Given the description of an element on the screen output the (x, y) to click on. 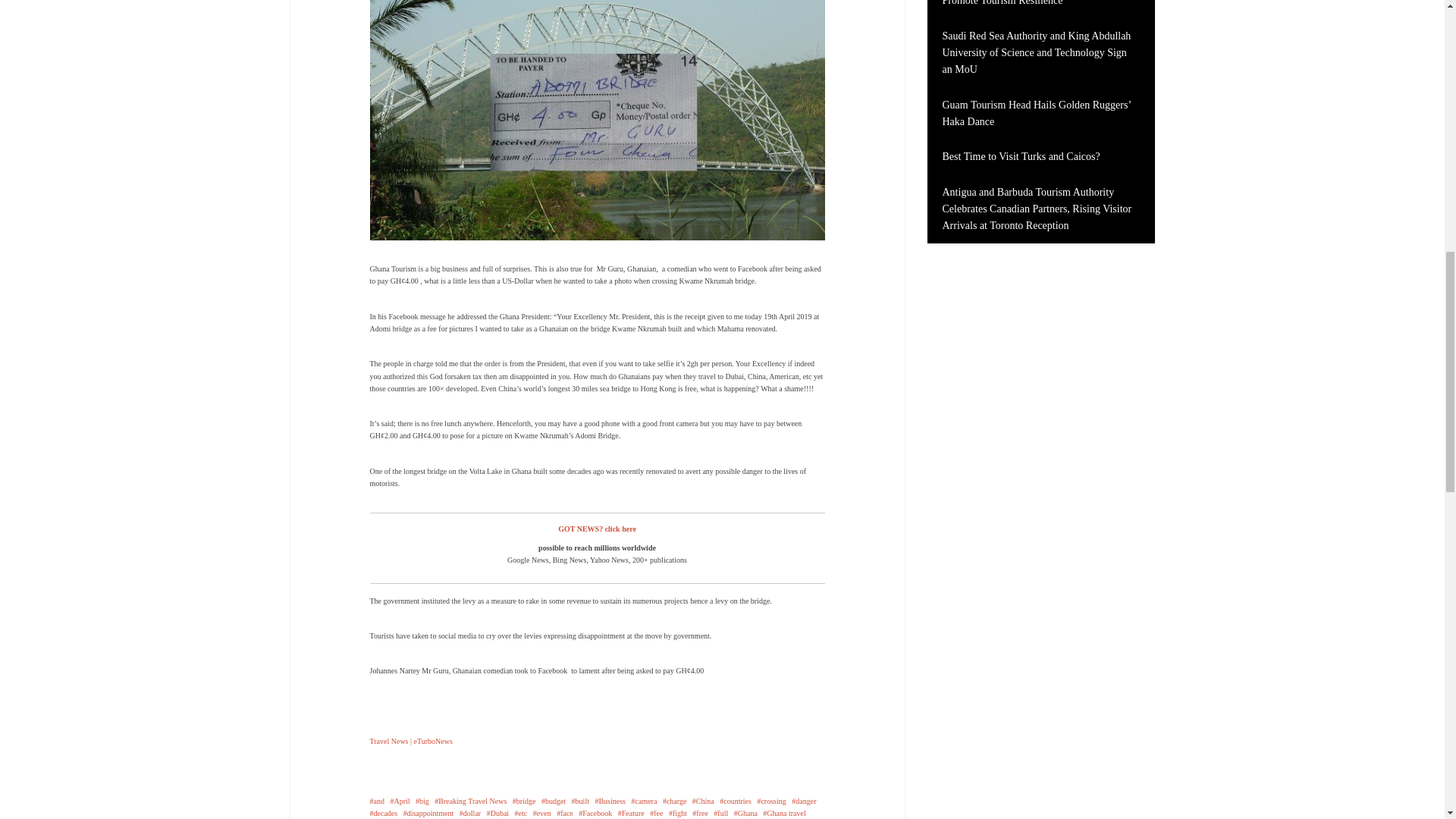
GOT NEWS? click here (596, 528)
April (399, 800)
Breaking Travel News (469, 800)
Ghana Tourism makes money on selfies (597, 111)
Business (610, 800)
charge (673, 800)
bridge (523, 800)
camera (644, 800)
and (376, 800)
crossing (771, 800)
